Given the description of an element on the screen output the (x, y) to click on. 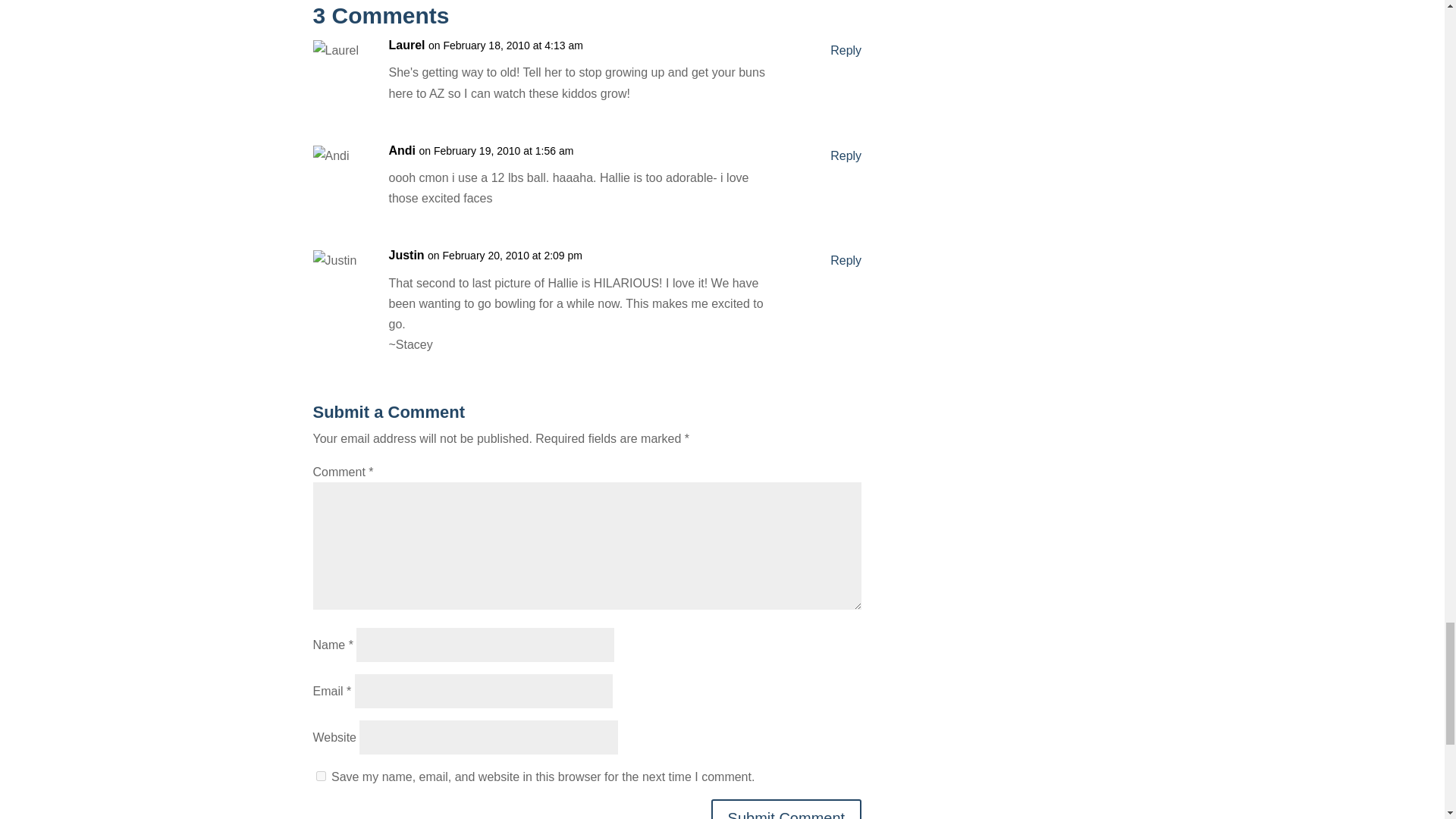
Submit Comment (786, 809)
Reply (845, 50)
yes (319, 776)
Andi (401, 150)
Submit Comment (786, 809)
Justin (405, 254)
Reply (845, 155)
Laurel (406, 45)
Reply (845, 260)
